Given the description of an element on the screen output the (x, y) to click on. 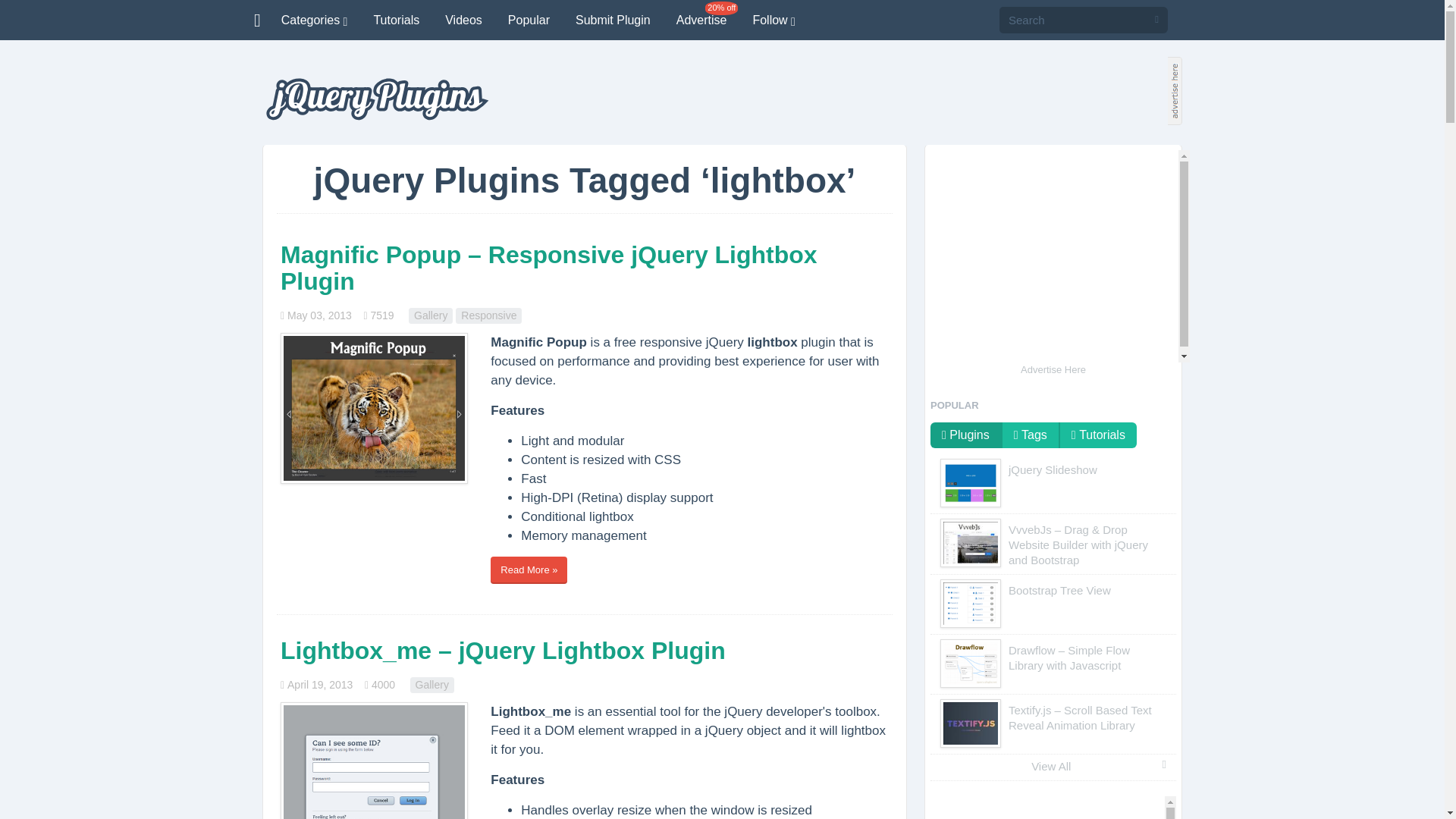
Popular (528, 20)
Tutorials (395, 20)
Categories (314, 20)
Advertisement (1053, 255)
Submit Plugin (612, 20)
Videos (463, 20)
